Given the description of an element on the screen output the (x, y) to click on. 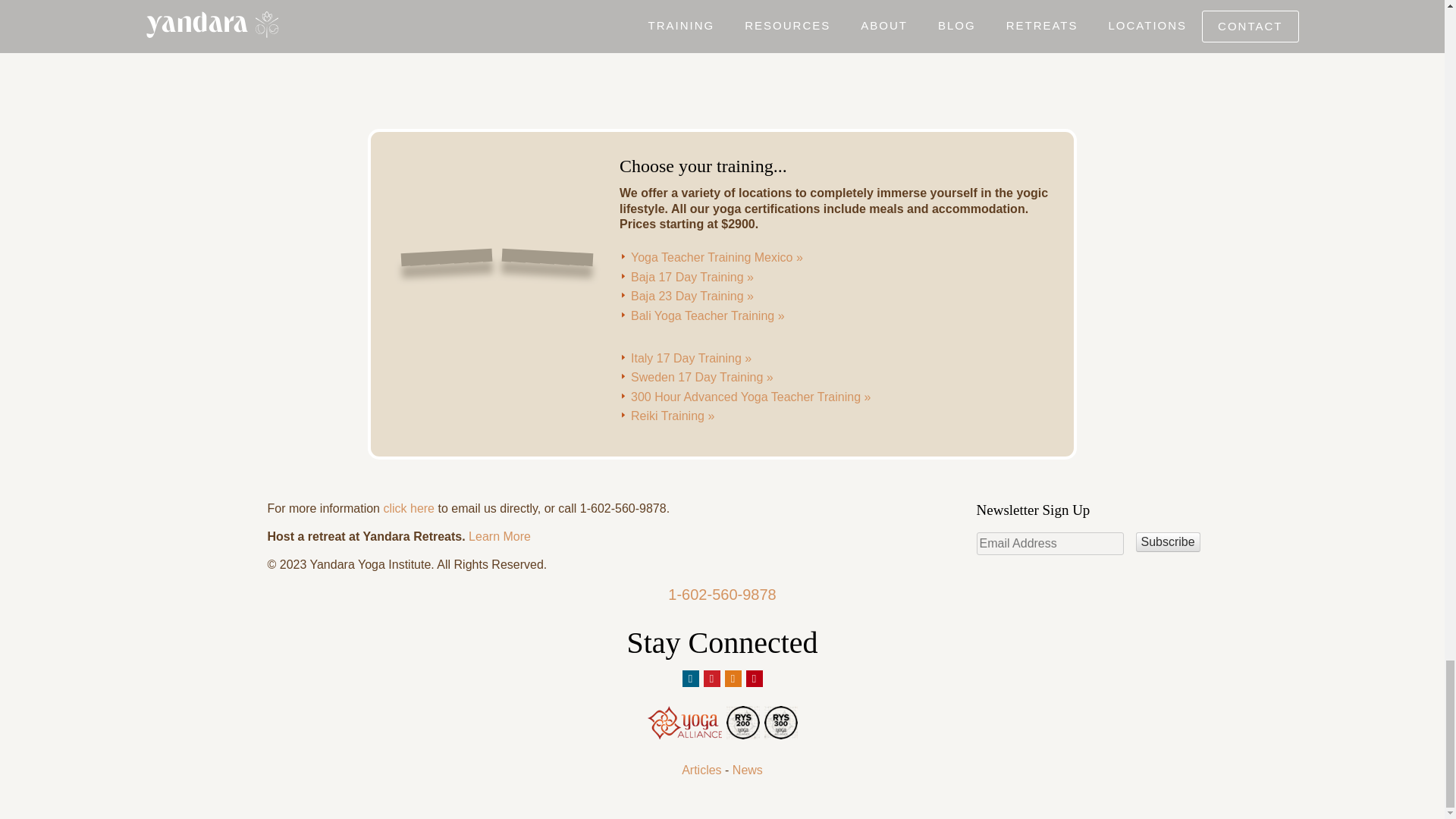
Subscribe (1167, 542)
DSC08530 (341, 51)
DSC08517 (467, 51)
